Given the description of an element on the screen output the (x, y) to click on. 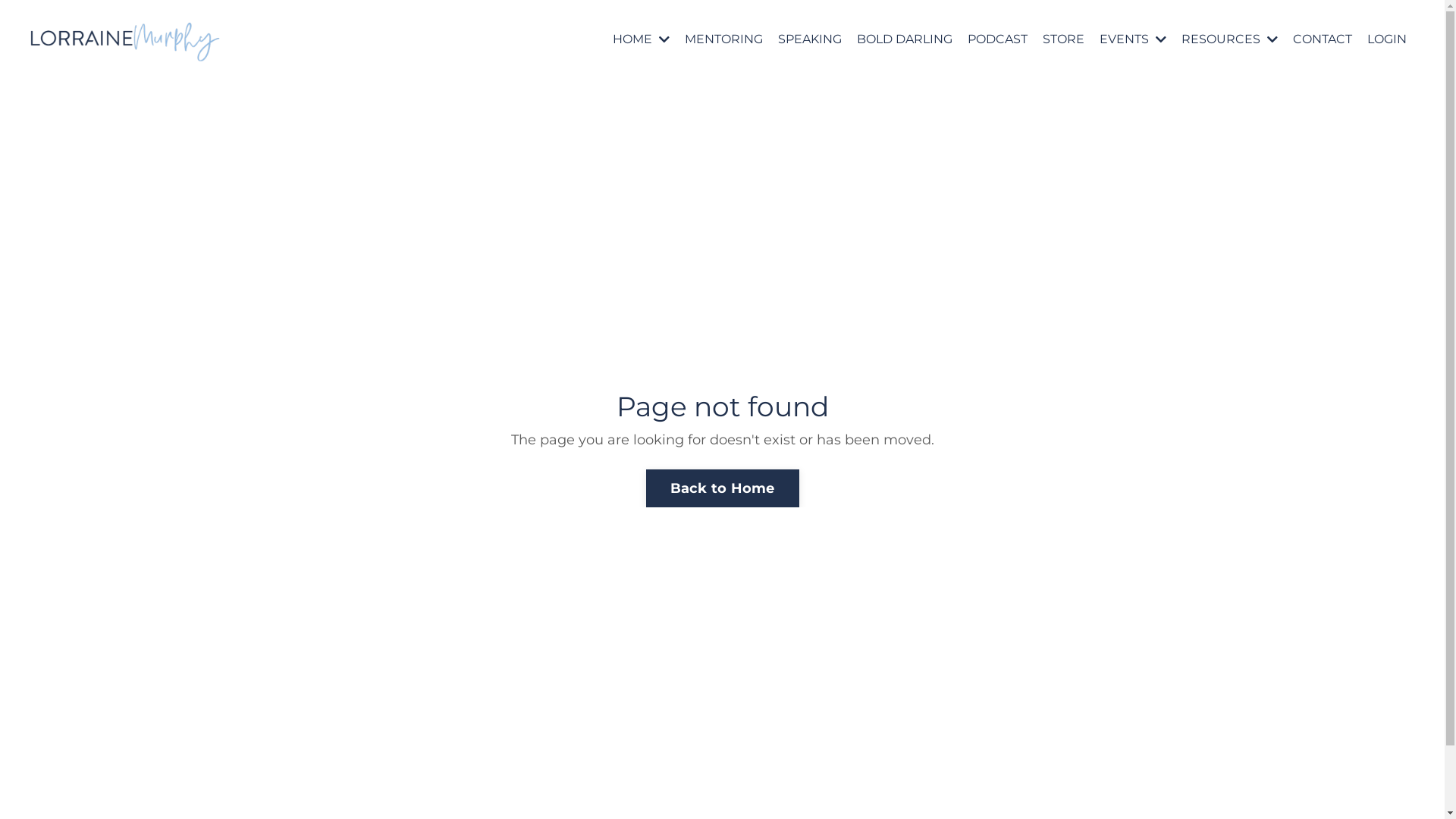
SPEAKING Element type: text (809, 39)
HOME Element type: text (640, 39)
CONTACT Element type: text (1322, 39)
PODCAST Element type: text (997, 39)
Back to Home Element type: text (722, 488)
EVENTS Element type: text (1132, 39)
BOLD DARLING Element type: text (904, 39)
MENTORING Element type: text (723, 39)
RESOURCES Element type: text (1229, 39)
LOGIN Element type: text (1386, 39)
STORE Element type: text (1063, 39)
